Given the description of an element on the screen output the (x, y) to click on. 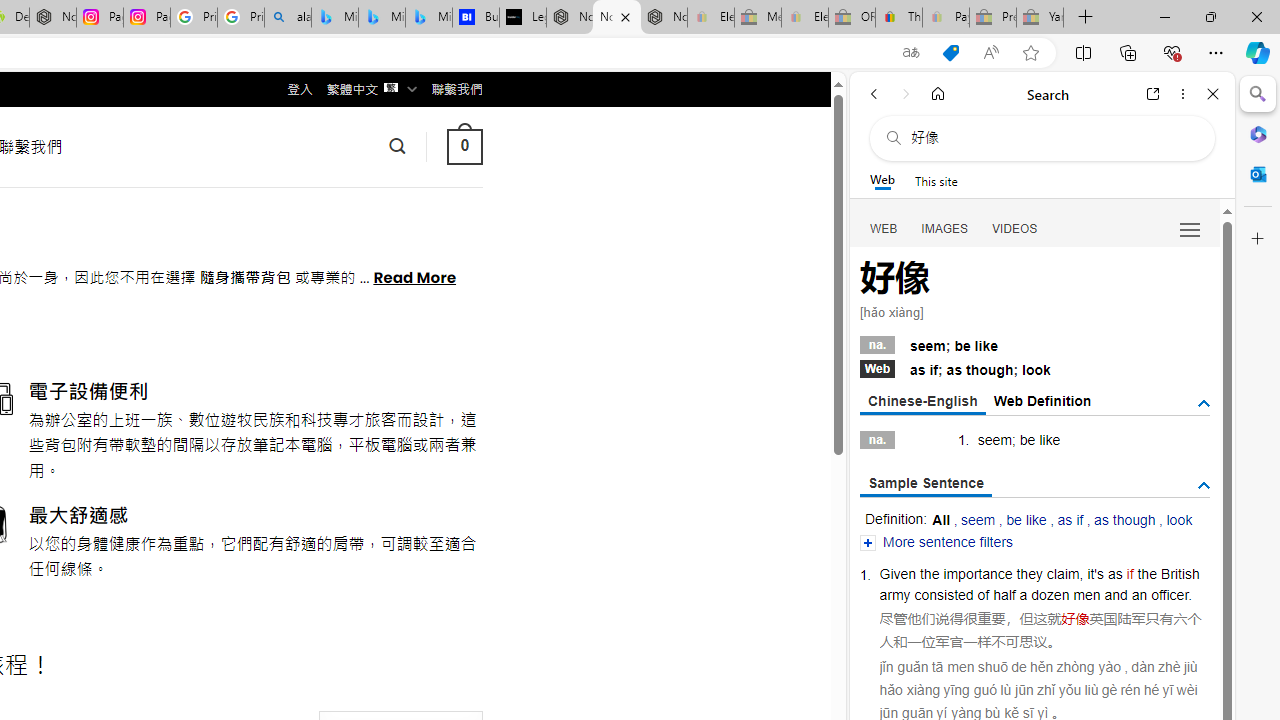
Chinese-English (922, 402)
. (1189, 594)
be (1026, 439)
seem (978, 520)
